Given the description of an element on the screen output the (x, y) to click on. 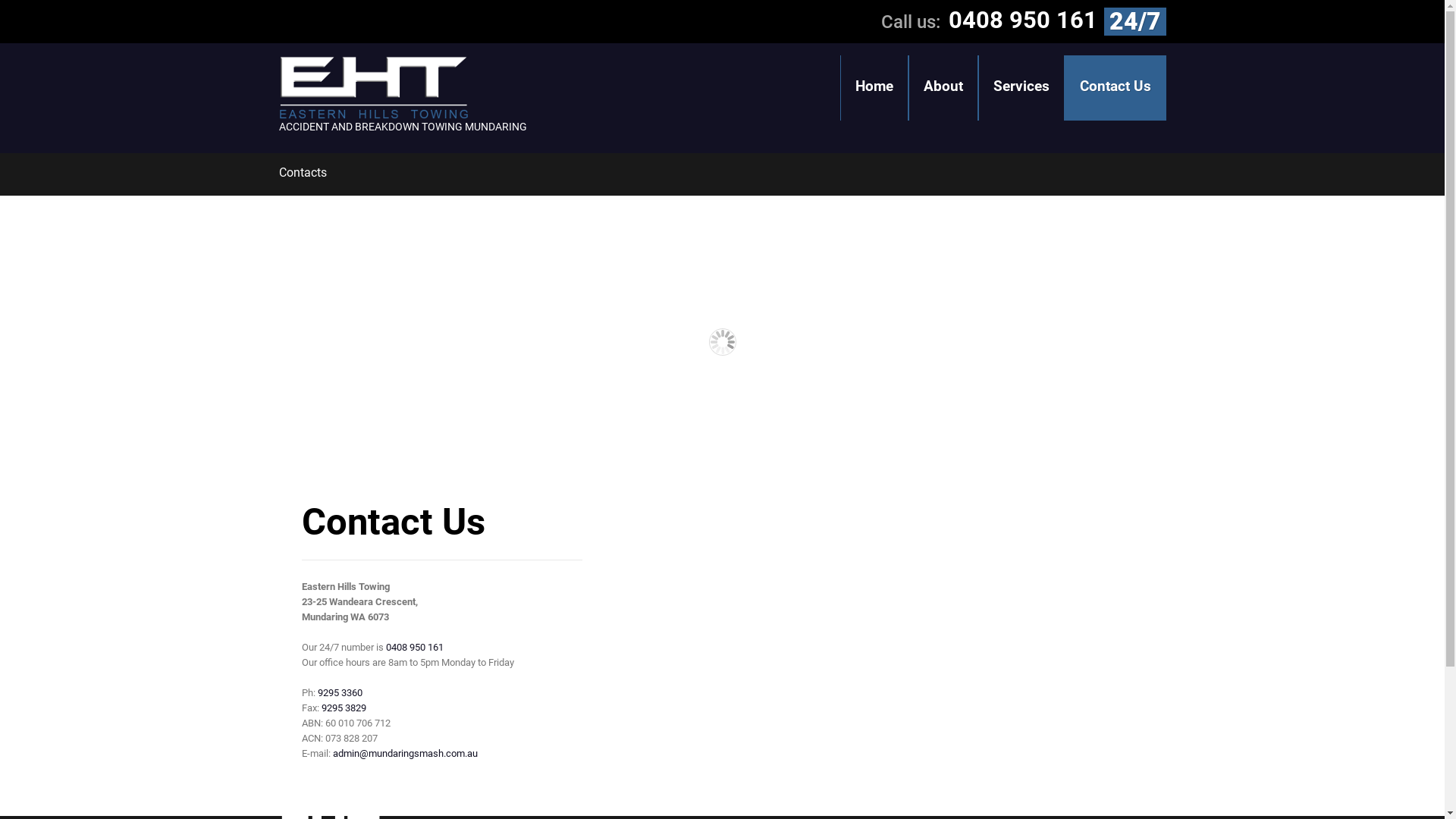
About Element type: text (942, 87)
Accident and Breakdown Towing Mundaring Element type: hover (373, 87)
0408 950 161 Element type: text (1021, 20)
0408 950 161 Element type: text (413, 646)
admin@mundaringsmash.com.au Element type: text (404, 753)
Home Element type: text (873, 87)
9295 3829 Element type: text (343, 707)
Contact Us Element type: text (1114, 87)
Services Element type: text (1020, 87)
9295 3360 Element type: text (338, 692)
